Given the description of an element on the screen output the (x, y) to click on. 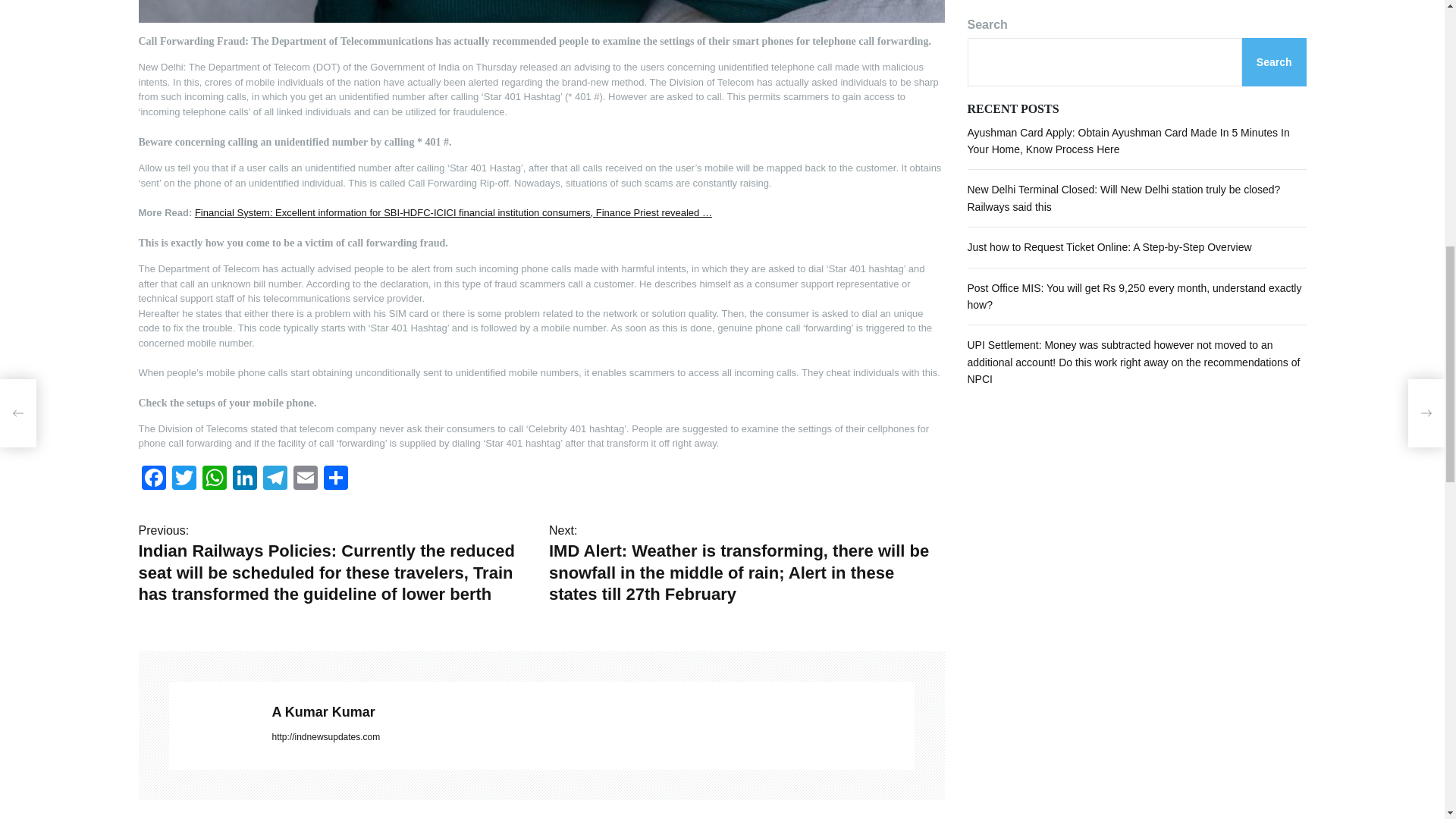
A Kumar Kumar (212, 725)
Email (304, 479)
Twitter (183, 479)
Telegram (274, 479)
A Kumar Kumar (592, 712)
LinkedIn (243, 479)
WhatsApp (213, 479)
Facebook (153, 479)
